Given the description of an element on the screen output the (x, y) to click on. 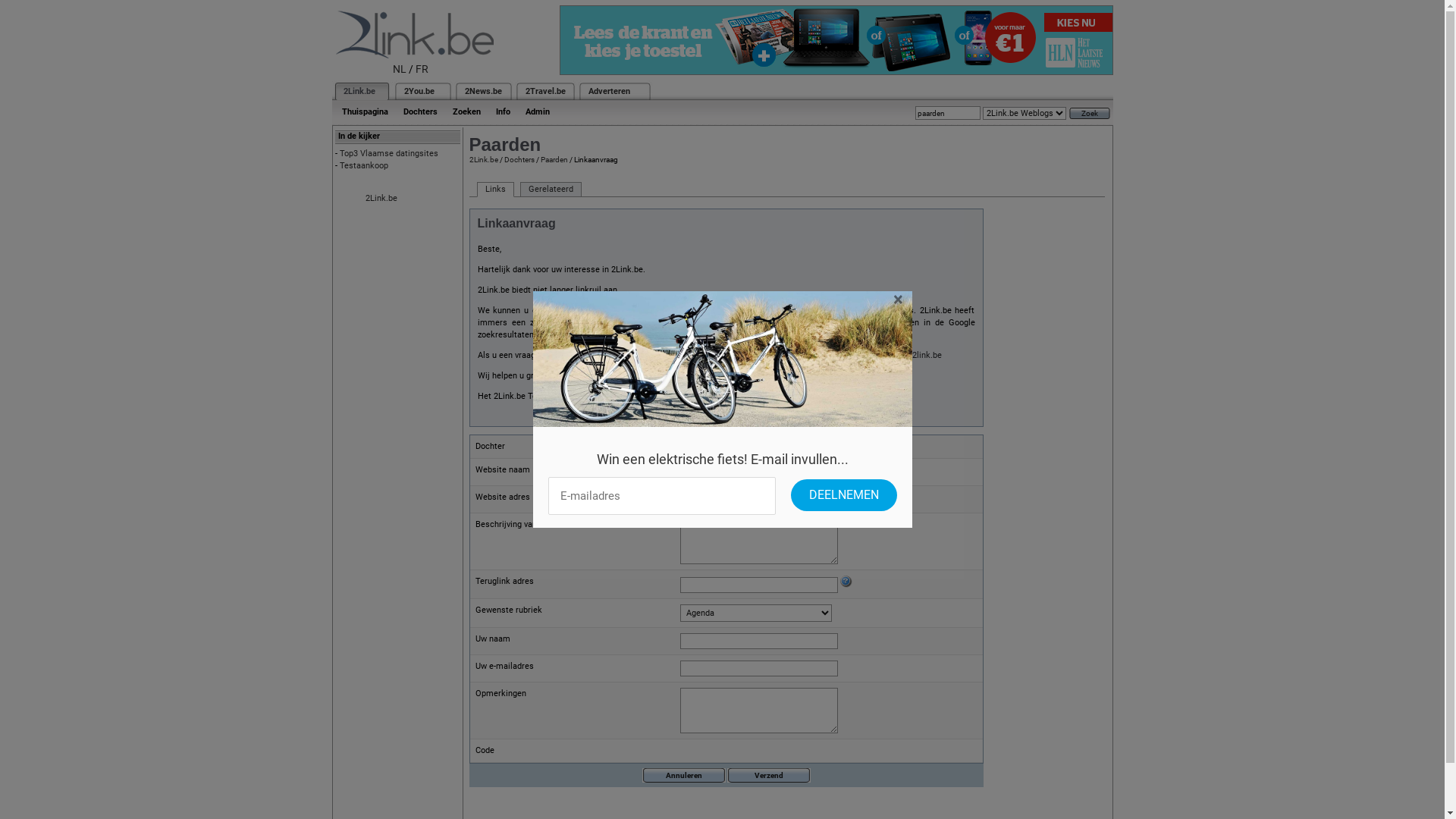
Verzend Element type: text (767, 775)
2Link.be Element type: text (482, 159)
info@2link.be Element type: text (915, 355)
Thuispagina Element type: text (364, 111)
Info Element type: text (502, 111)
Links Element type: text (494, 189)
Adverteren Element type: text (609, 91)
Paarden Element type: text (553, 159)
Testaankoop Element type: text (363, 165)
2Link.be Element type: text (381, 198)
Gerelateerd Element type: text (550, 189)
Zoek Element type: text (1089, 113)
FR Element type: text (421, 68)
Dochters Element type: text (518, 159)
2News.be Element type: text (482, 91)
NL Element type: text (399, 68)
2Link.be Element type: text (358, 91)
2You.be Element type: text (418, 91)
2Travel.be Element type: text (544, 91)
Admin Element type: text (536, 111)
Dochters Element type: text (420, 111)
Top3 Vlaamse datingsites Element type: text (388, 153)
Zoeken Element type: text (465, 111)
